Given the description of an element on the screen output the (x, y) to click on. 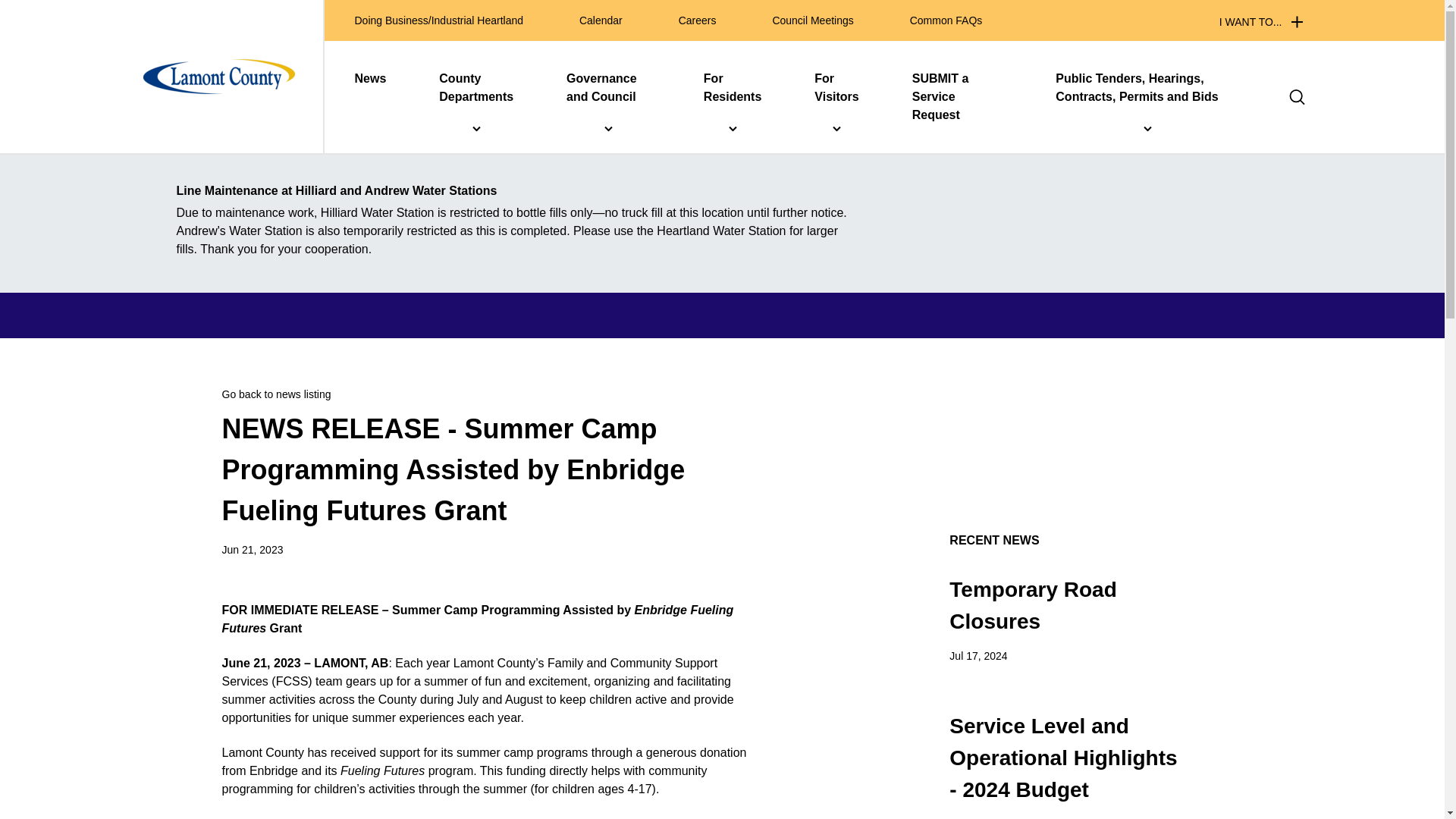
Careers (697, 20)
County Departments (476, 87)
Council Meetings (812, 20)
I WANT TO... (1261, 20)
Careers (697, 20)
Lamont County (218, 76)
Calendar (601, 20)
News (371, 78)
Calendar (601, 20)
Council Meetings (812, 20)
Common FAQs (946, 20)
Common FAQs (946, 20)
